Given the description of an element on the screen output the (x, y) to click on. 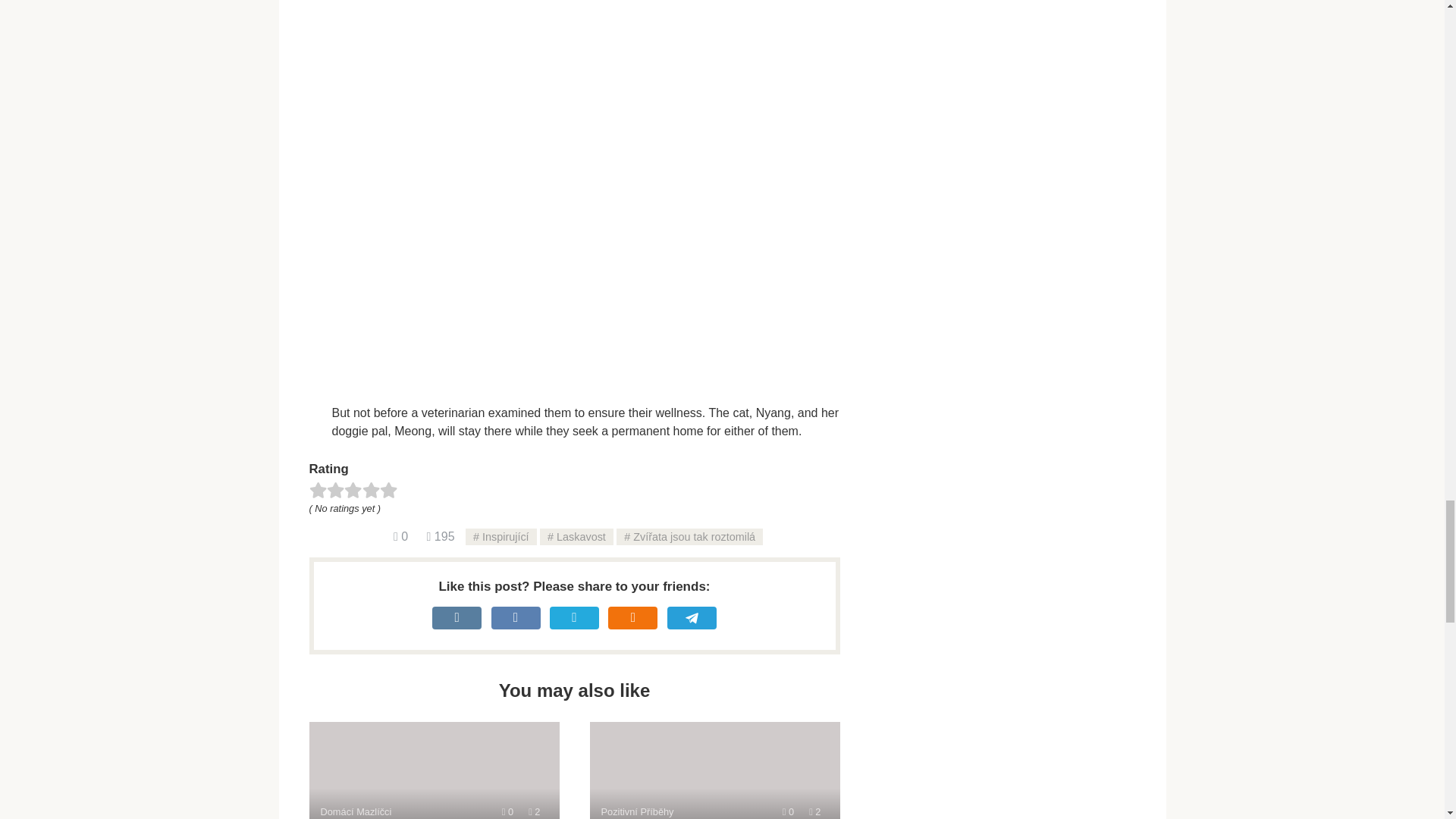
Views (440, 535)
Views (815, 811)
Laskavost (576, 536)
Comments (400, 535)
Views (534, 811)
Comments (788, 811)
Comments (507, 811)
